Given the description of an element on the screen output the (x, y) to click on. 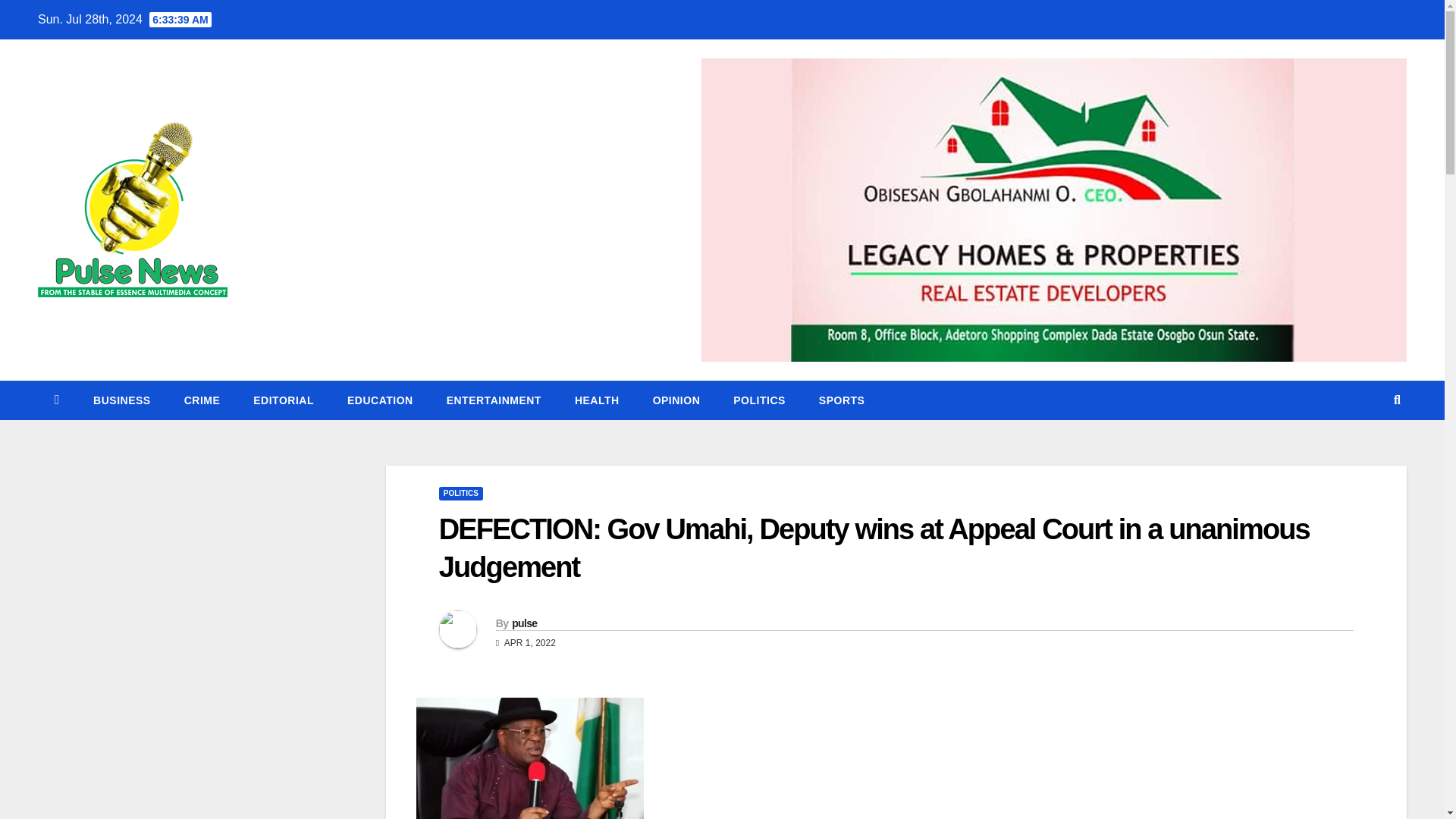
POLITICS (759, 400)
Editorial (282, 400)
Business (122, 400)
OPINION (676, 400)
POLITICS (461, 493)
EDITORIAL (282, 400)
ENTERTAINMENT (493, 400)
Entertainment (493, 400)
CRIME (202, 400)
EDUCATION (379, 400)
Opinion (676, 400)
Crime (202, 400)
Education (379, 400)
HEALTH (596, 400)
